Given the description of an element on the screen output the (x, y) to click on. 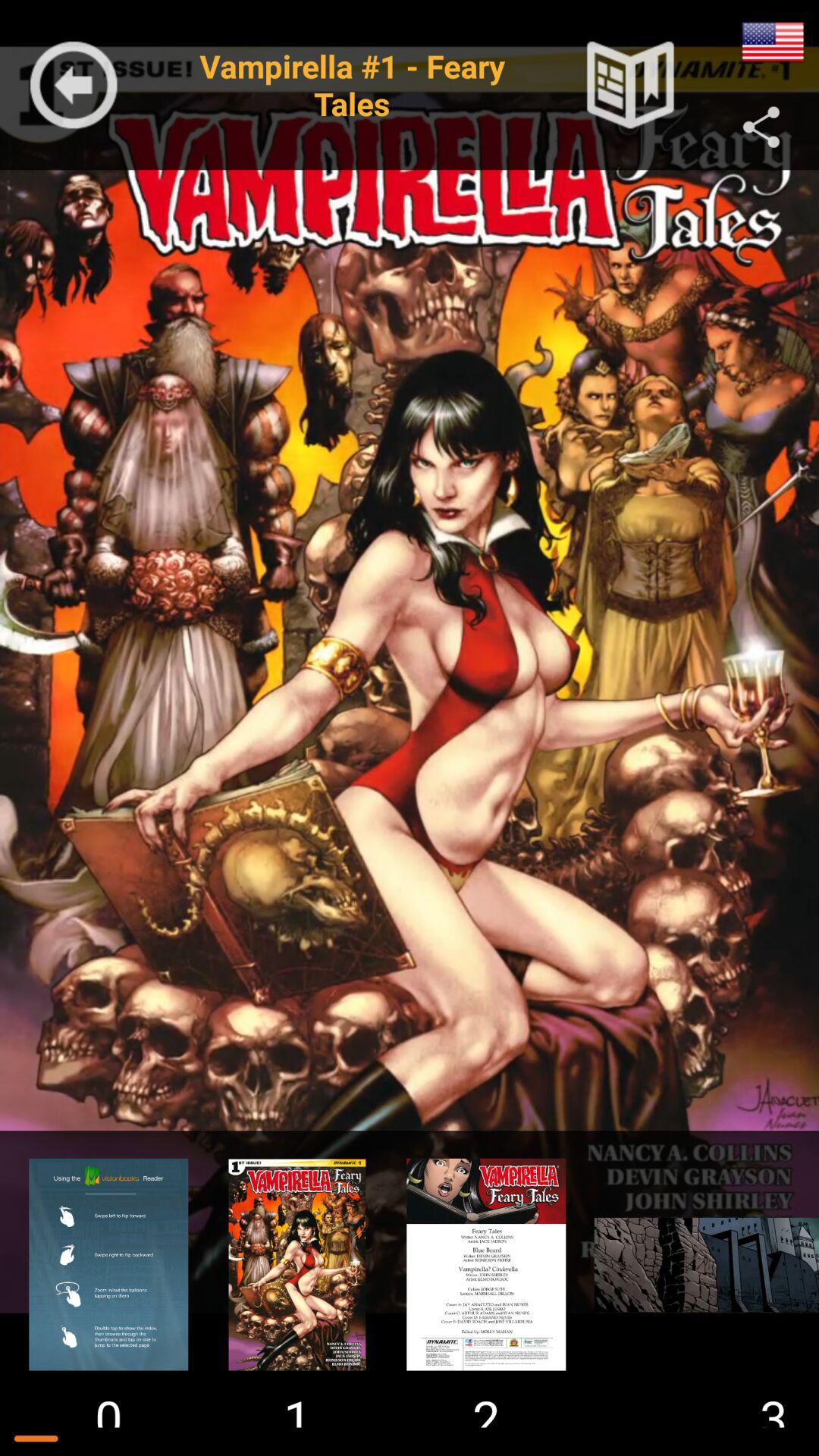
enlarge picture (699, 1264)
